Given the description of an element on the screen output the (x, y) to click on. 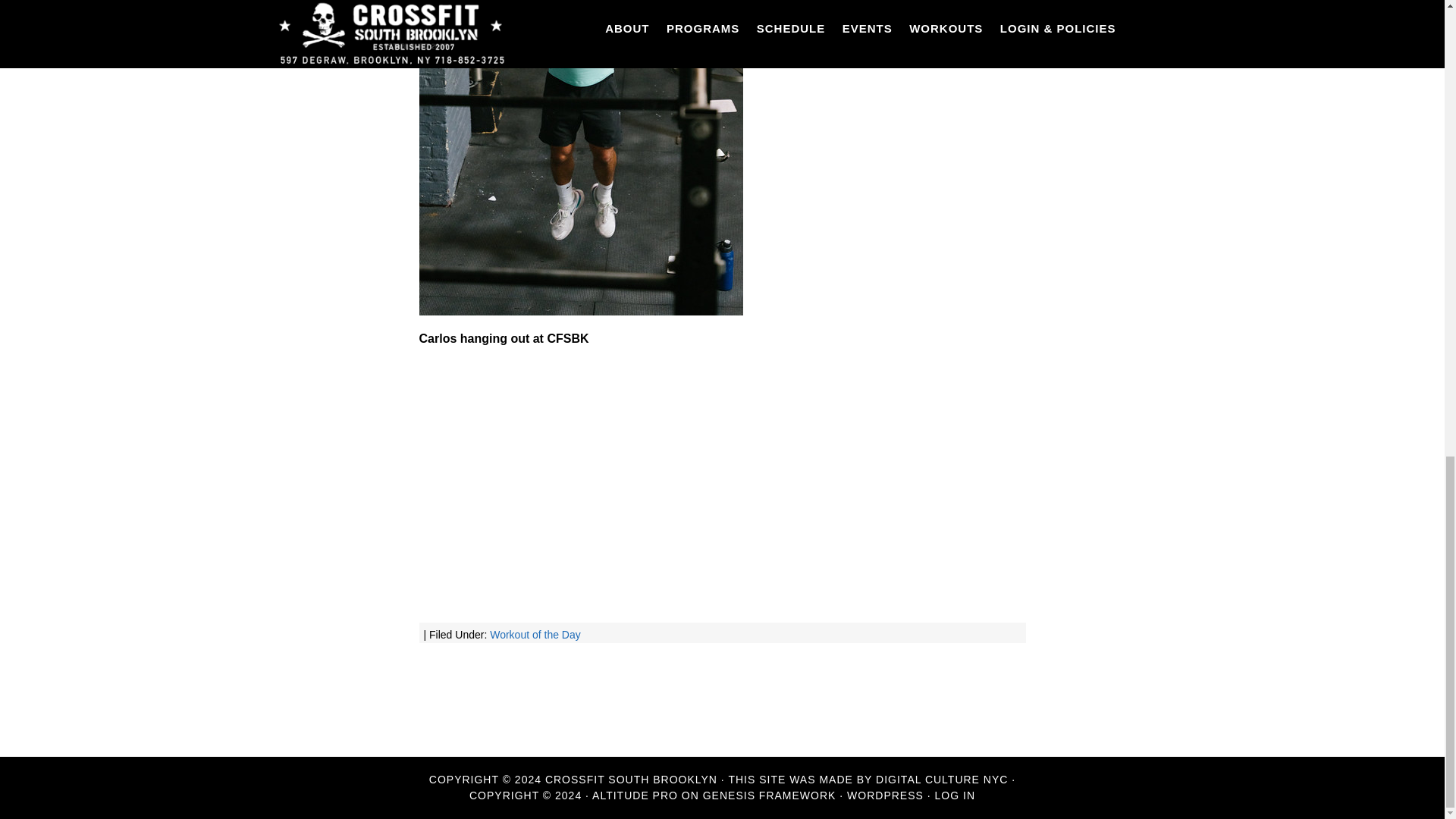
LOG IN (954, 795)
YouTube video player (631, 482)
ALTITUDE PRO (635, 795)
WORDPRESS (885, 795)
Workout of the Day (534, 634)
DIGITAL CULTURE NYC (941, 779)
GENESIS FRAMEWORK (769, 795)
